Given the description of an element on the screen output the (x, y) to click on. 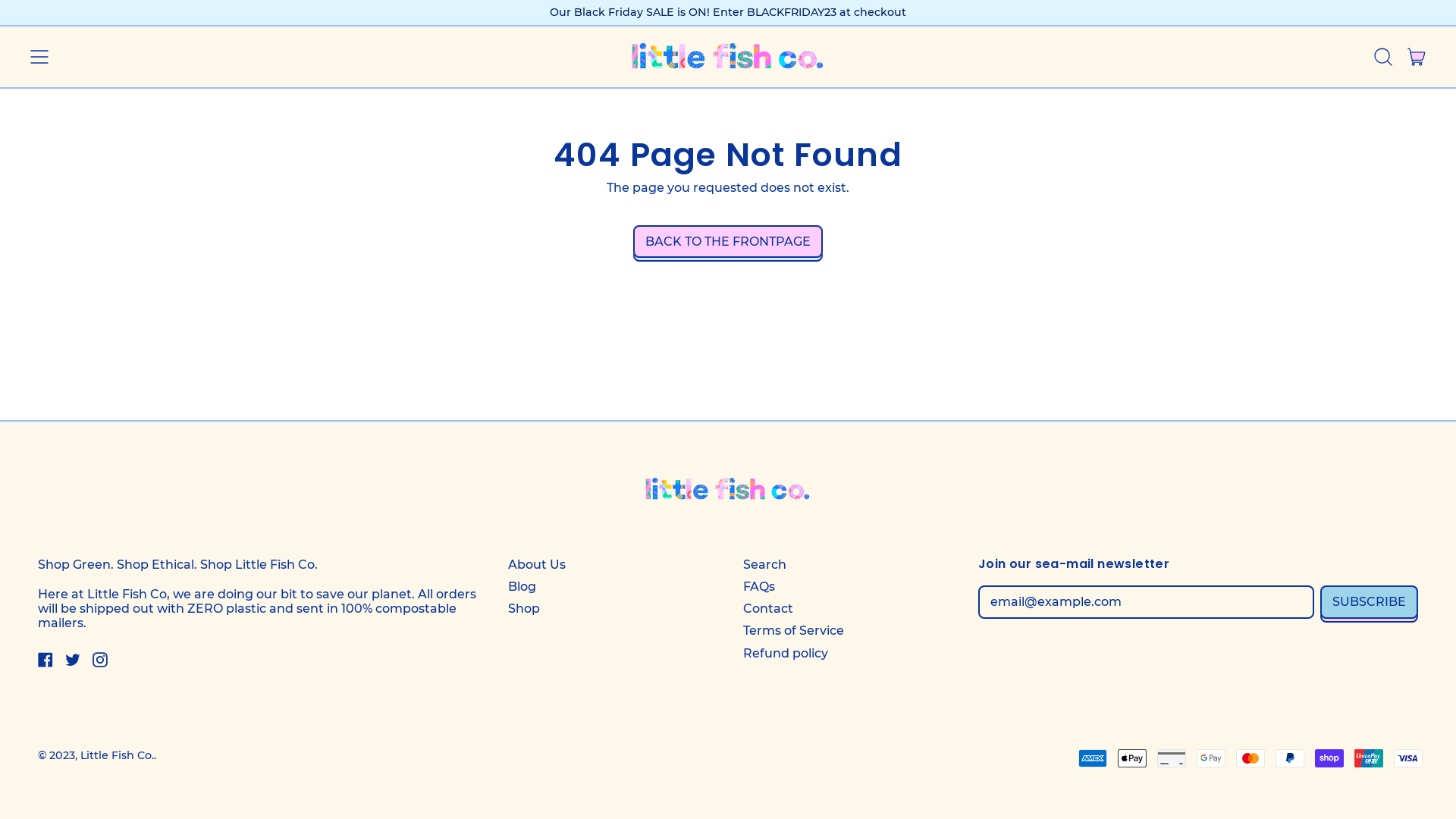
Shop Element type: text (523, 608)
FAQs Element type: text (759, 586)
Little Fish Co. Element type: text (116, 755)
Blog Element type: text (522, 586)
Search Element type: text (764, 564)
Refund policy Element type: text (785, 653)
BACK TO THE FRONTPAGE Element type: text (727, 241)
Facebook Element type: text (45, 662)
Menu Element type: text (39, 56)
About Us Element type: text (536, 564)
Twitter Element type: text (72, 662)
Terms of Service Element type: text (793, 630)
Cart
items Element type: text (1416, 56)
Contact Element type: text (768, 608)
SUBSCRIBE Element type: text (1369, 601)
Instagram Element type: text (99, 662)
Search our site Element type: text (1382, 56)
